Given the description of an element on the screen output the (x, y) to click on. 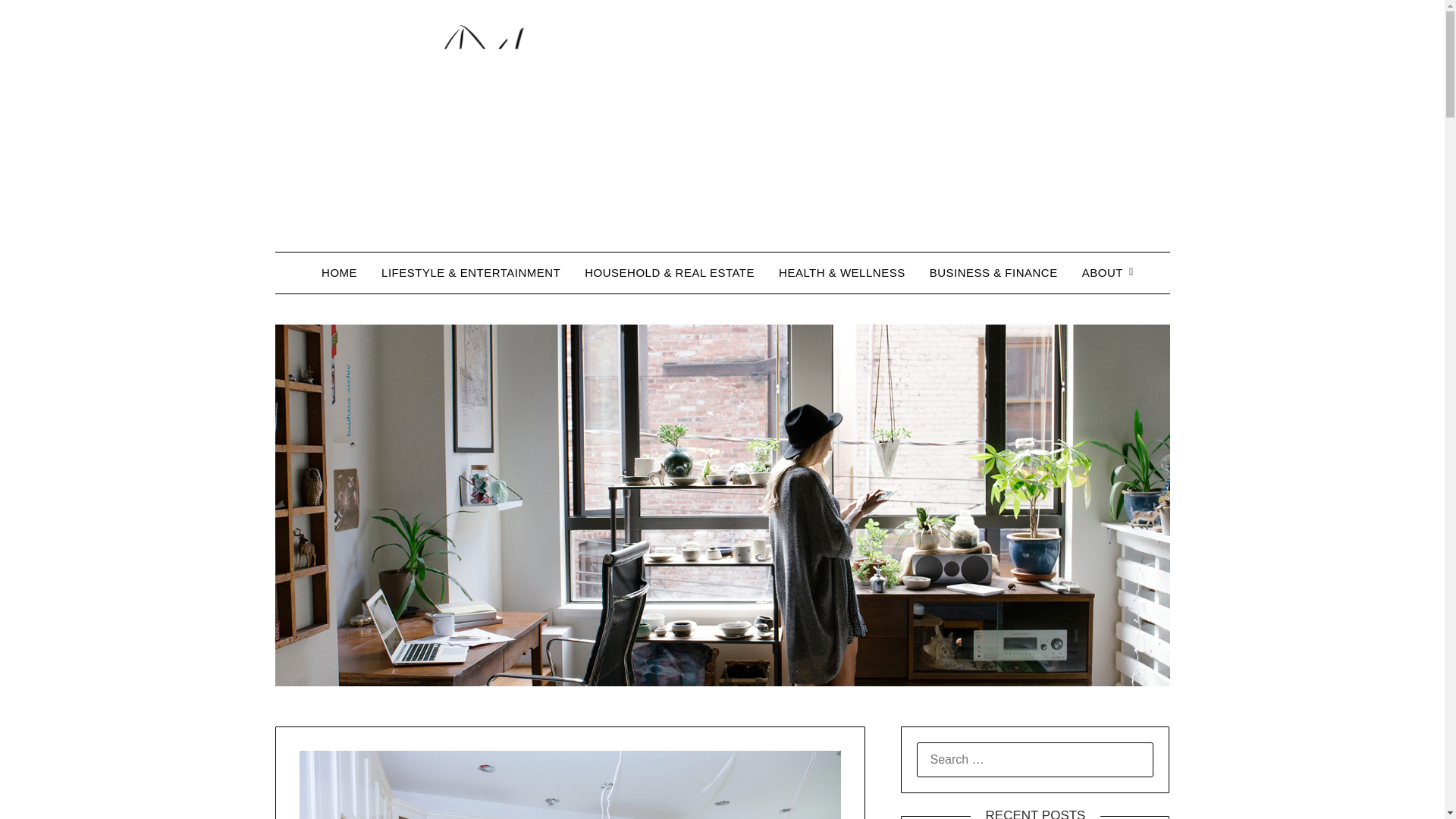
Search (38, 22)
ABOUT (1102, 272)
HOME (338, 272)
